Given the description of an element on the screen output the (x, y) to click on. 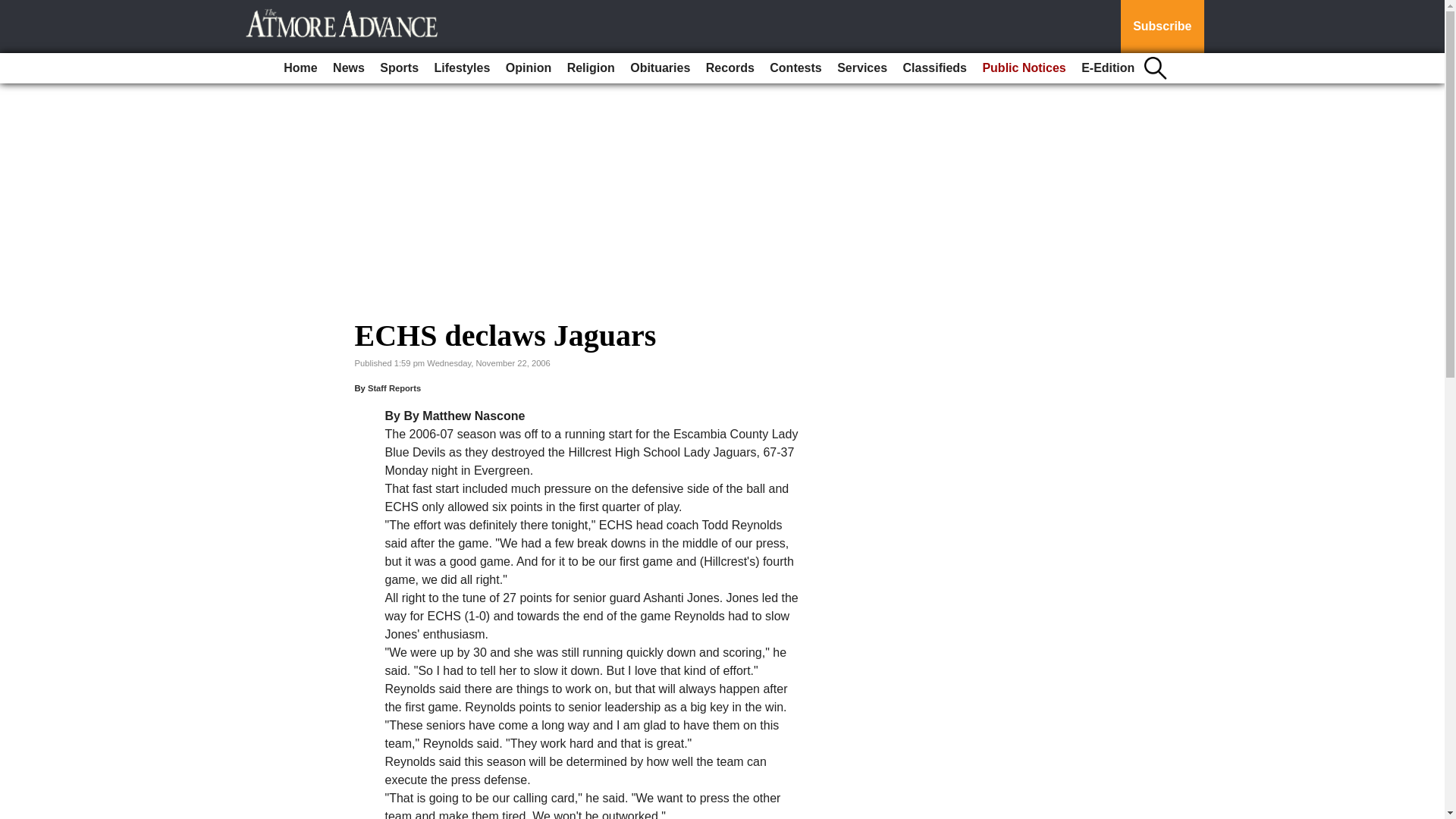
Opinion (528, 68)
Lifestyles (462, 68)
Classifieds (934, 68)
Home (300, 68)
Subscribe (1162, 26)
Go (13, 9)
E-Edition (1107, 68)
Staff Reports (394, 388)
Services (862, 68)
Public Notices (1023, 68)
